Given the description of an element on the screen output the (x, y) to click on. 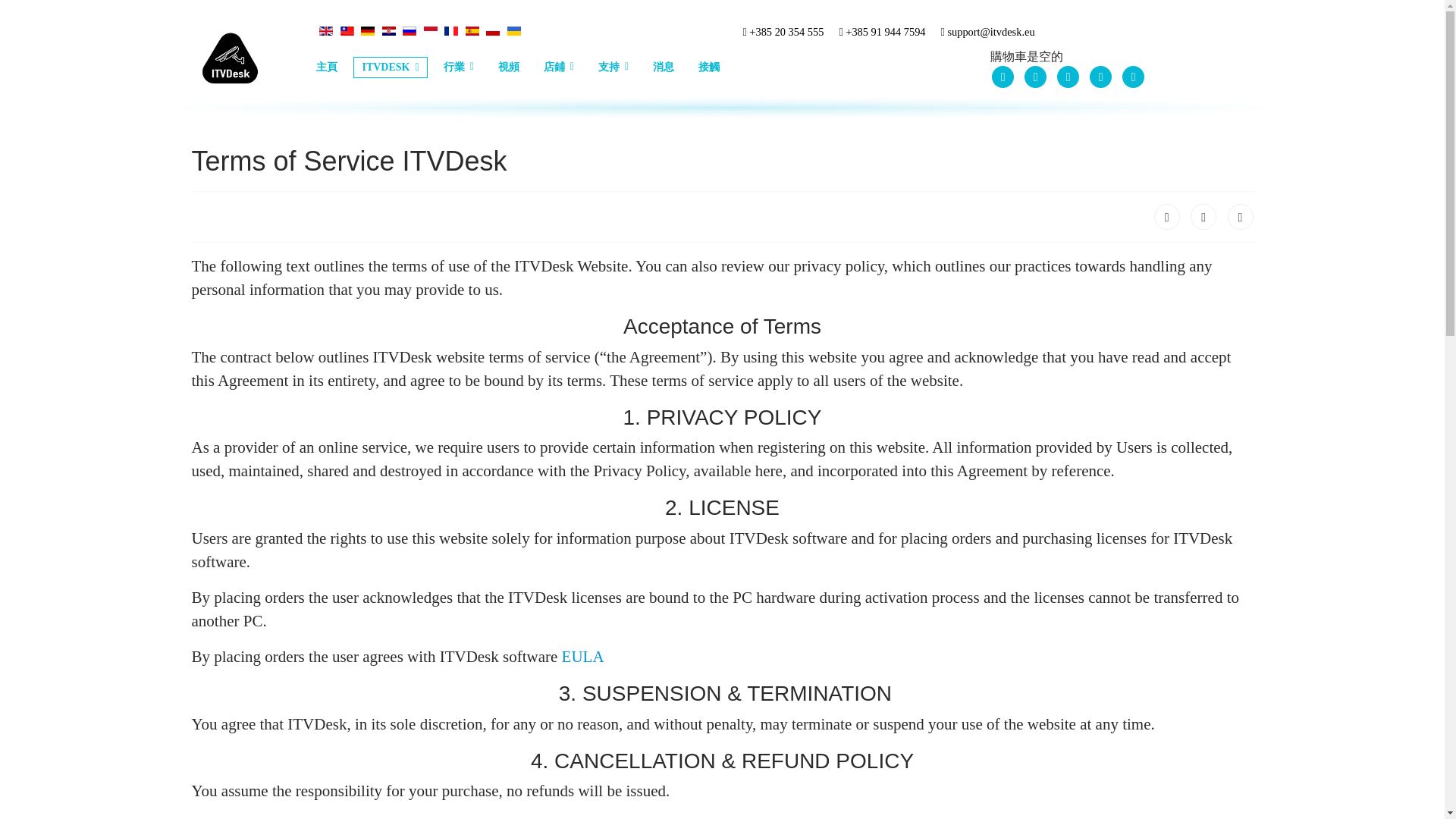
Russian (409, 31)
English (325, 31)
Twitter (1203, 216)
ITVDESK (389, 66)
Bahasa Indonesia (430, 31)
LinkedIn (1239, 216)
Croatian (388, 31)
Facebook (1166, 216)
